Given the description of an element on the screen output the (x, y) to click on. 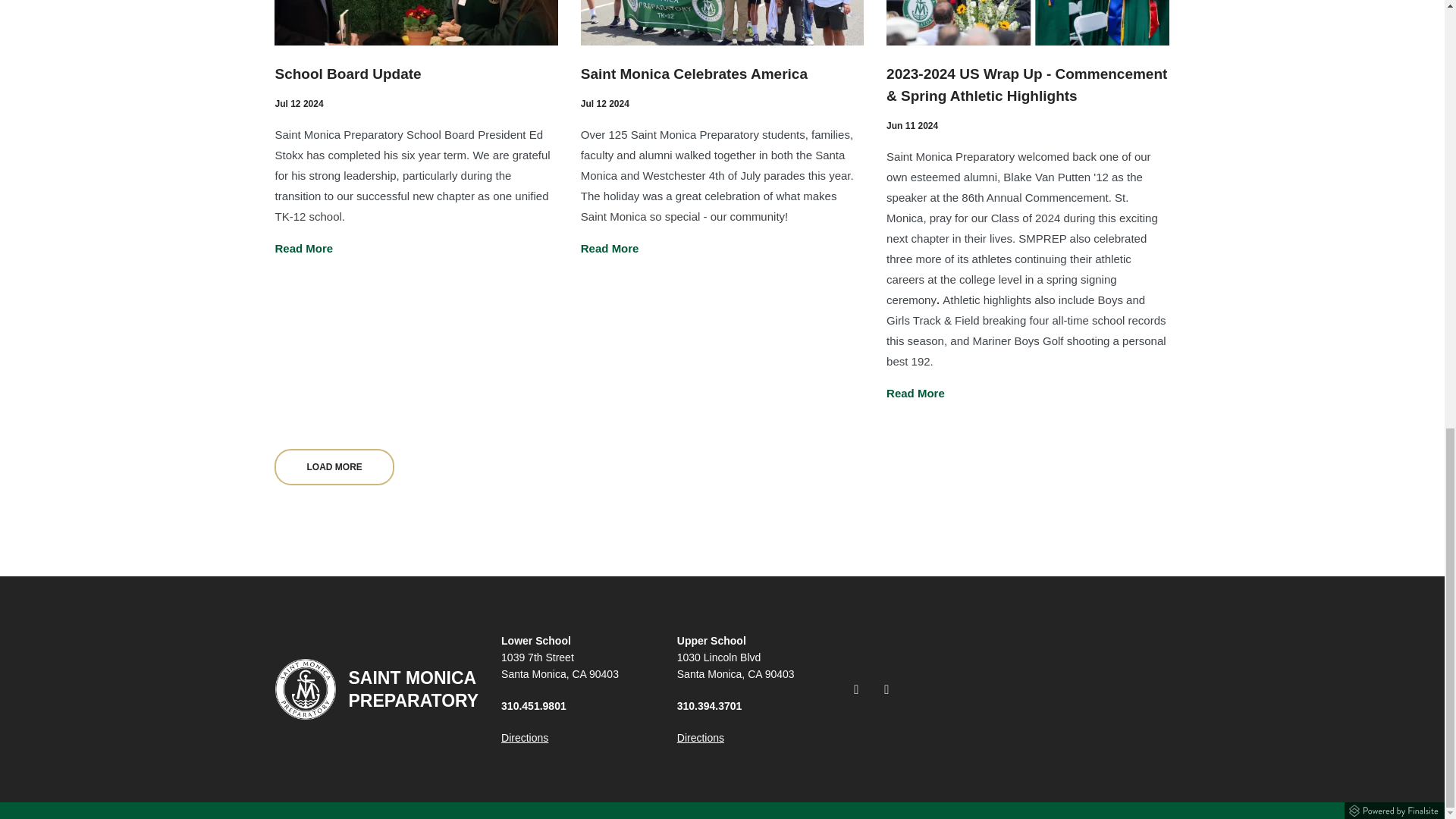
Mariners in the 4th of July parade (721, 22)
Ed Stokx with SMPREP students (416, 22)
commencement speaker and graduates (1027, 22)
